Given the description of an element on the screen output the (x, y) to click on. 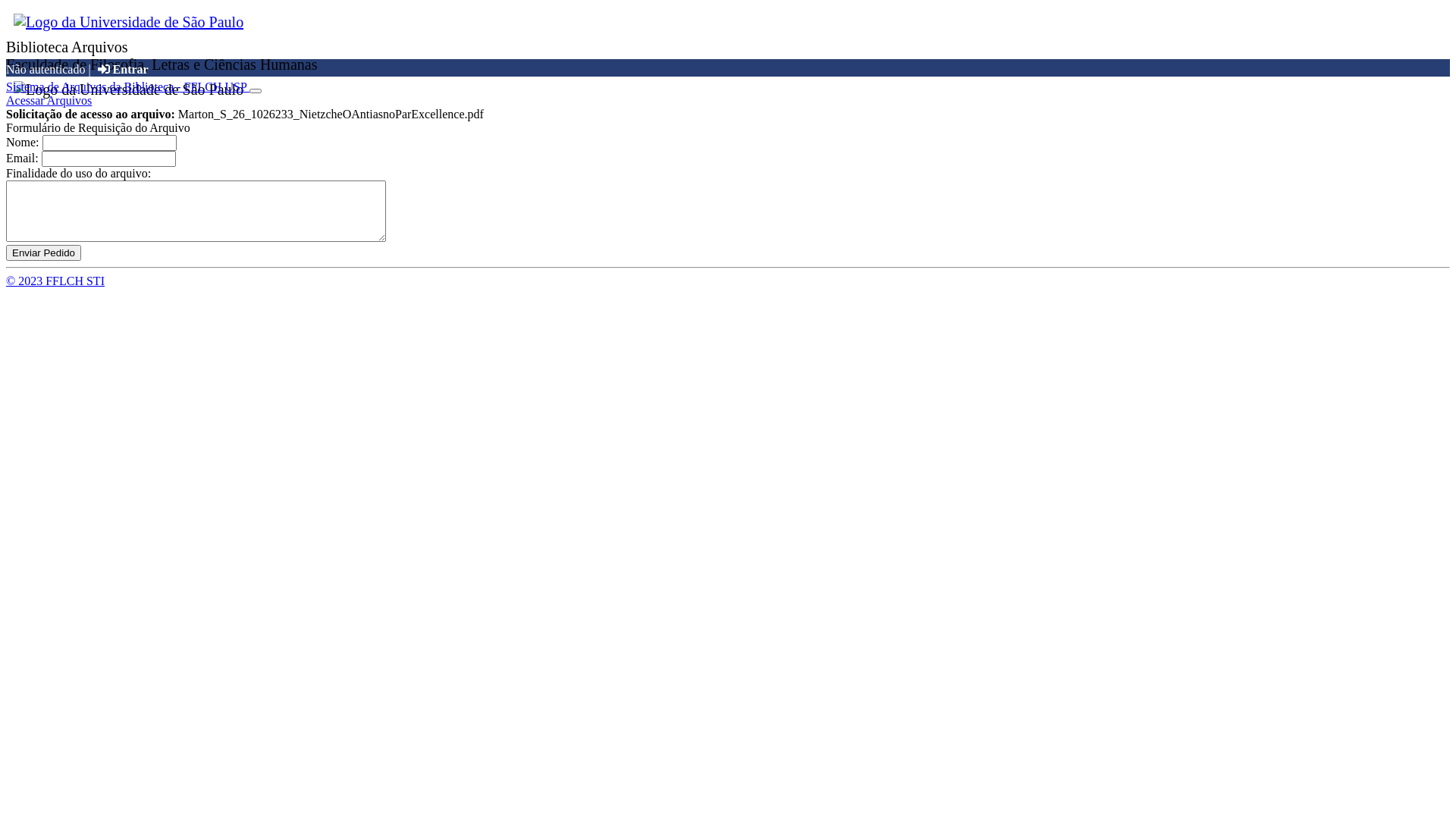
Enviar Pedido Element type: text (43, 252)
Sistema de Arquivos da Biblioteca - FFLCH USP Element type: text (127, 86)
Acessar Arquivos Element type: text (48, 100)
Entrar Element type: text (125, 68)
